Given the description of an element on the screen output the (x, y) to click on. 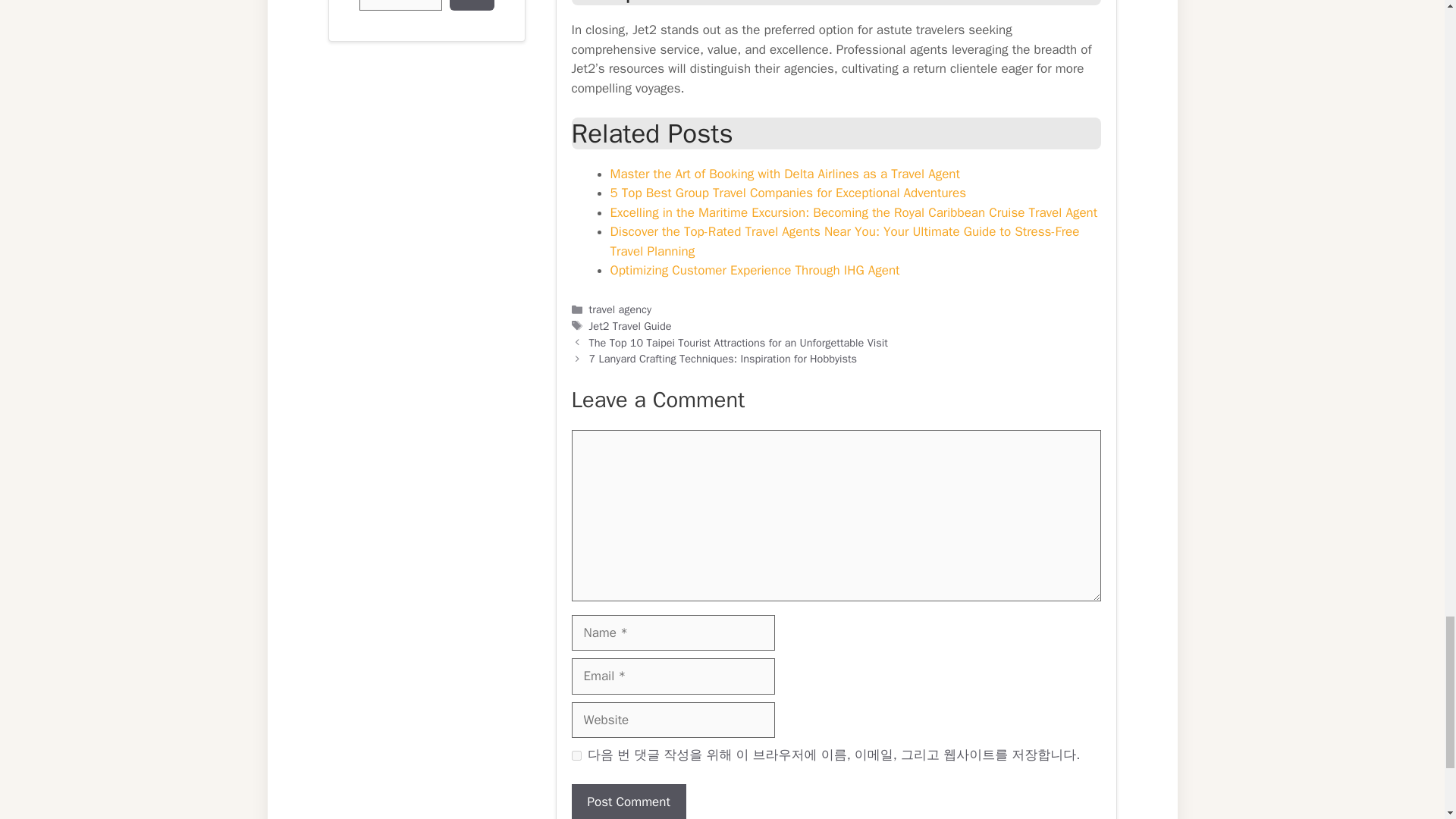
5 Top Best Group Travel Companies for Exceptional Adventures (788, 192)
Optimizing Customer Experience Through IHG Agent (754, 270)
travel agency (619, 309)
yes (576, 755)
Post Comment (628, 801)
